Given the description of an element on the screen output the (x, y) to click on. 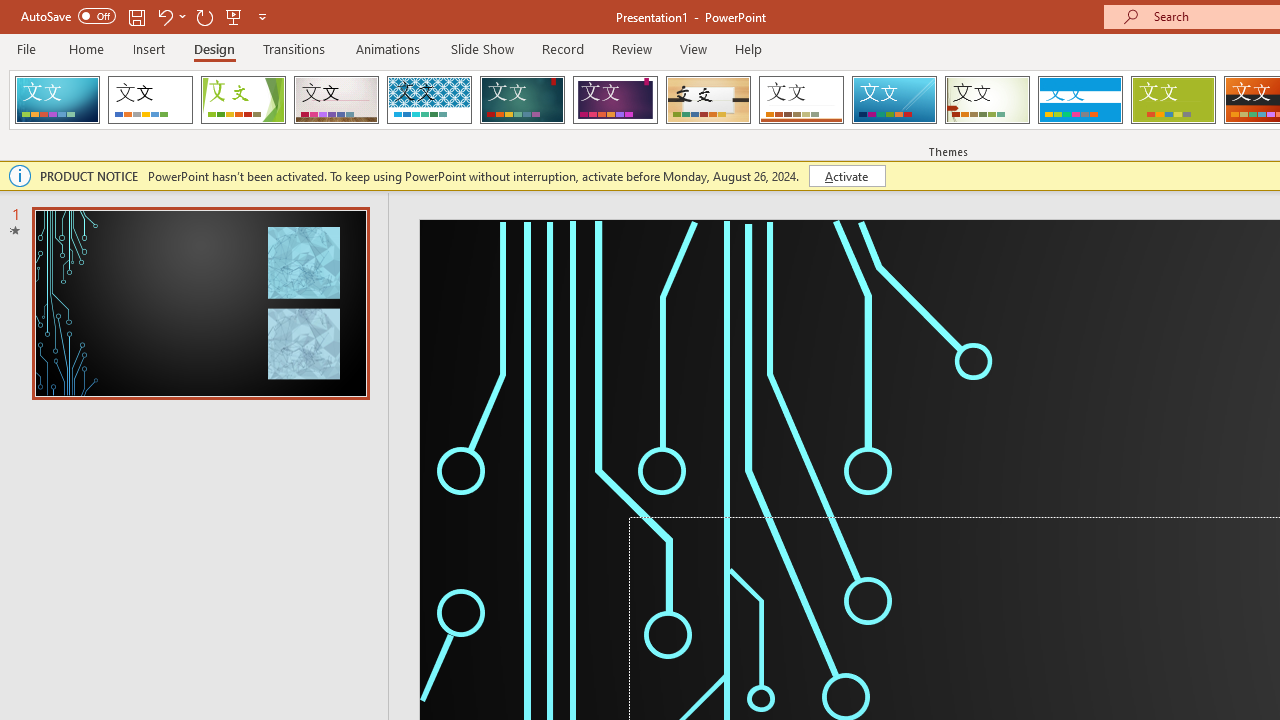
Ion Boardroom (615, 100)
Gallery (336, 100)
Wisp (987, 100)
